Given the description of an element on the screen output the (x, y) to click on. 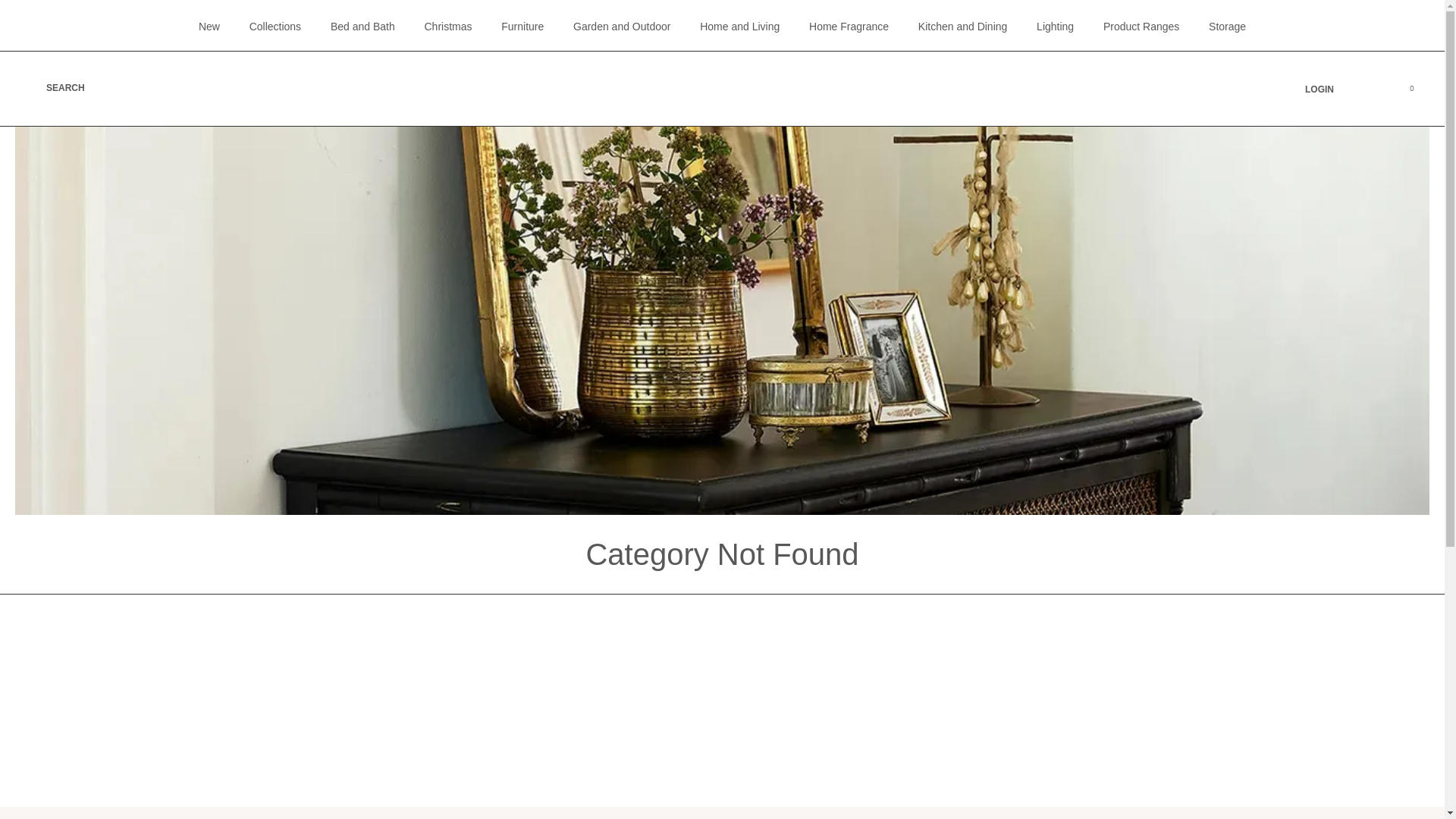
Christmas Element type: text (447, 26)
Product Ranges Element type: text (1140, 26)
Kitchen and Dining Element type: text (962, 26)
LOGIN Element type: text (1331, 89)
Lighting Element type: text (1055, 26)
French Country Collections Element type: text (722, 88)
New Element type: text (209, 26)
Home Fragrance Element type: text (848, 26)
Home and Living Element type: text (739, 26)
Garden and Outdoor Element type: text (621, 26)
Search Element type: text (242, 119)
Furniture Element type: text (522, 26)
SEARCH Element type: text (57, 88)
Collections Element type: text (274, 26)
Storage Element type: text (1227, 26)
0 Element type: text (1405, 88)
Bed and Bath Element type: text (362, 26)
